Given the description of an element on the screen output the (x, y) to click on. 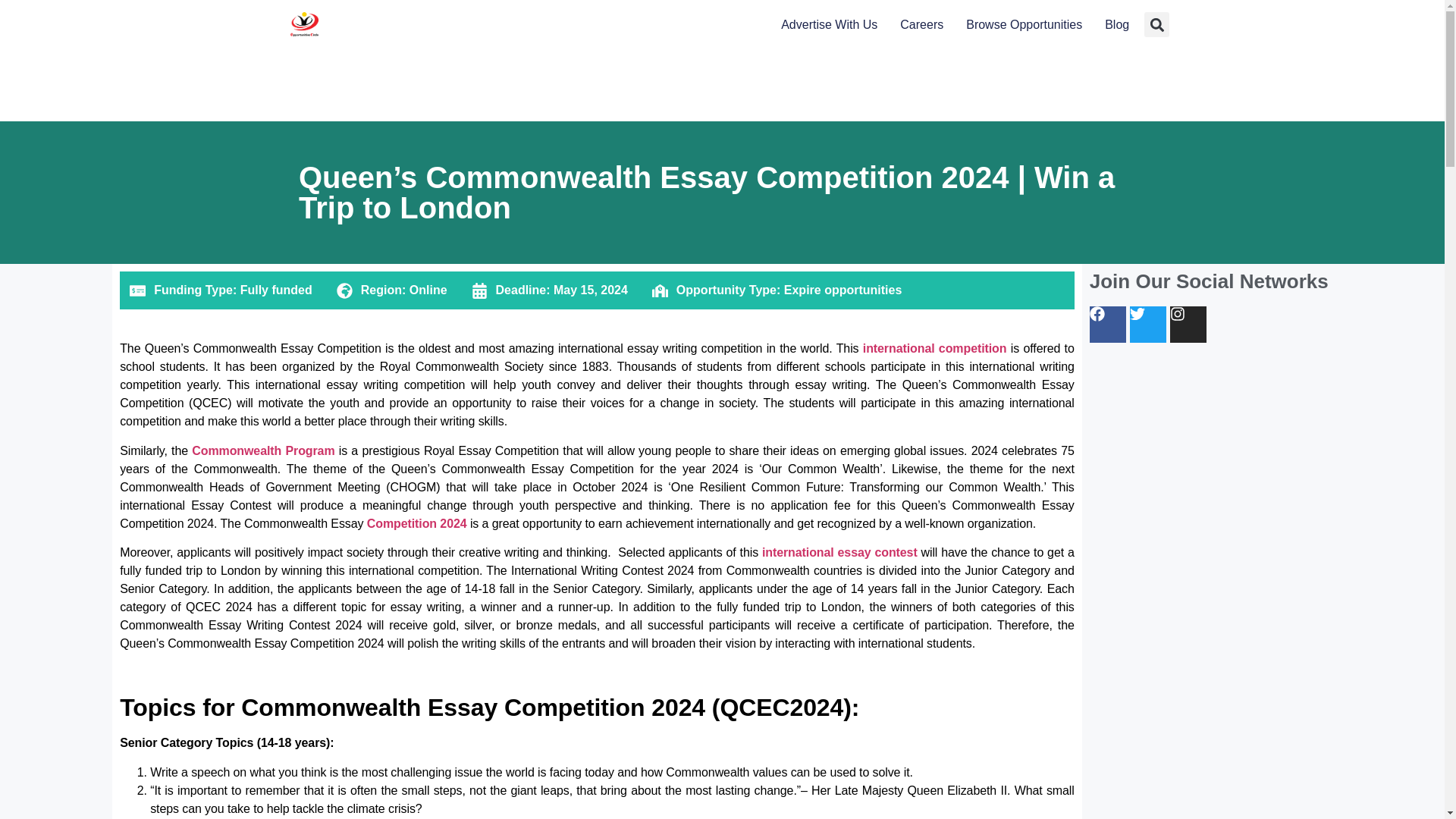
Competition 2024 (416, 522)
Commonwealth Program (263, 450)
Online (427, 289)
Blog (1117, 25)
Careers (921, 25)
international competition (932, 348)
Expire opportunities (843, 289)
international essay contest (839, 552)
Browse Opportunities (1023, 25)
Advertise With Us (828, 25)
